Given the description of an element on the screen output the (x, y) to click on. 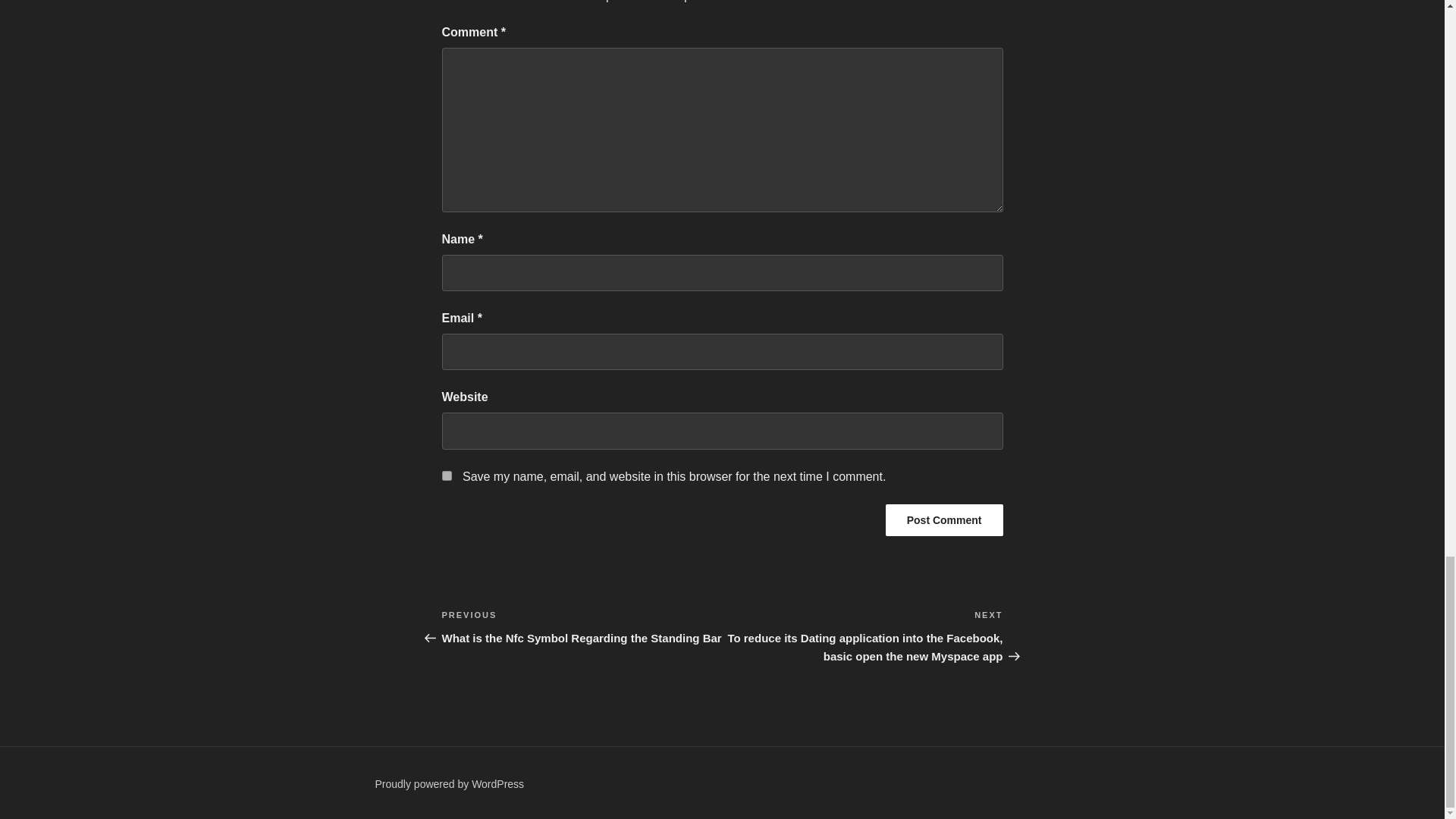
Post Comment (944, 520)
Proudly powered by WordPress (449, 784)
yes (446, 475)
Post Comment (944, 520)
